Given the description of an element on the screen output the (x, y) to click on. 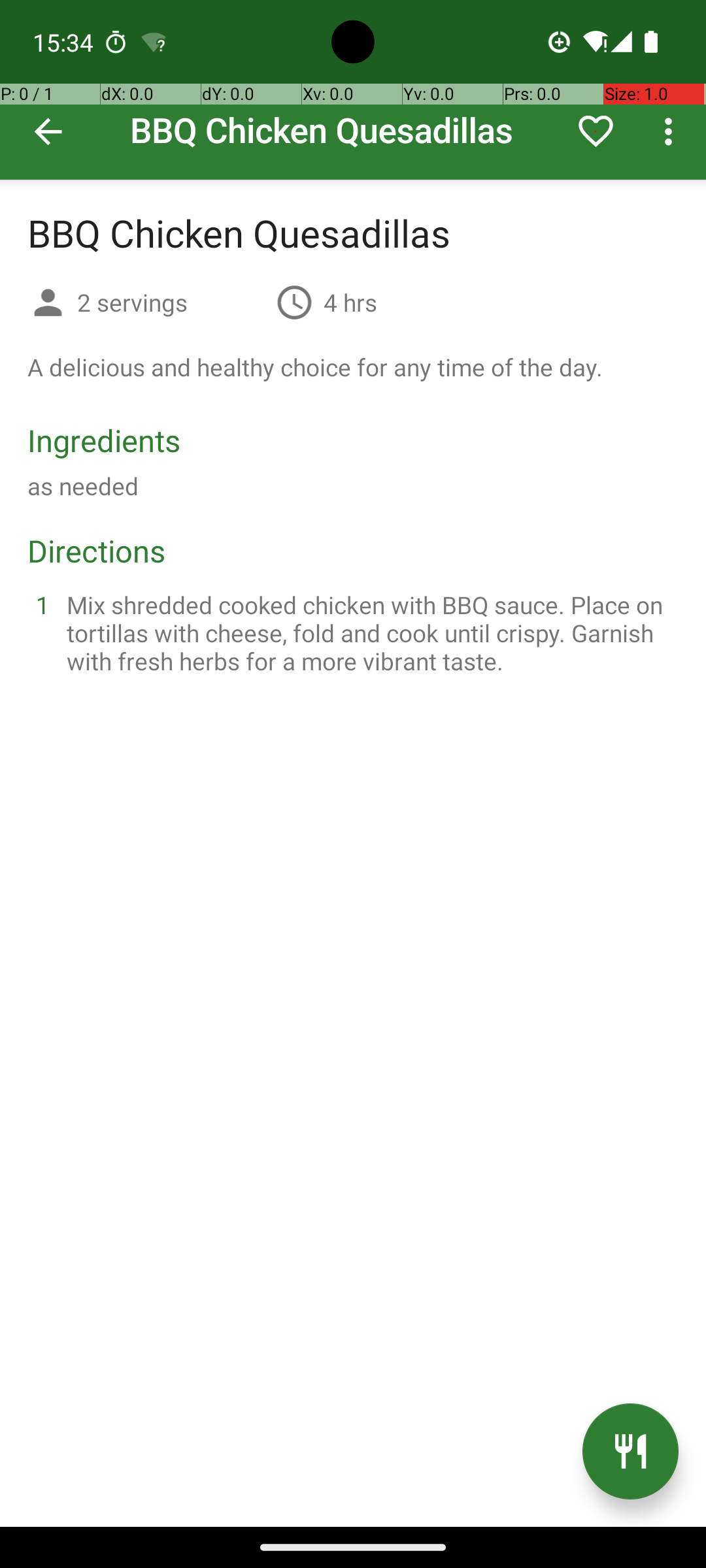
Mix shredded cooked chicken with BBQ sauce. Place on tortillas with cheese, fold and cook until crispy. Garnish with fresh herbs for a more vibrant taste. Element type: android.widget.TextView (368, 632)
